Given the description of an element on the screen output the (x, y) to click on. 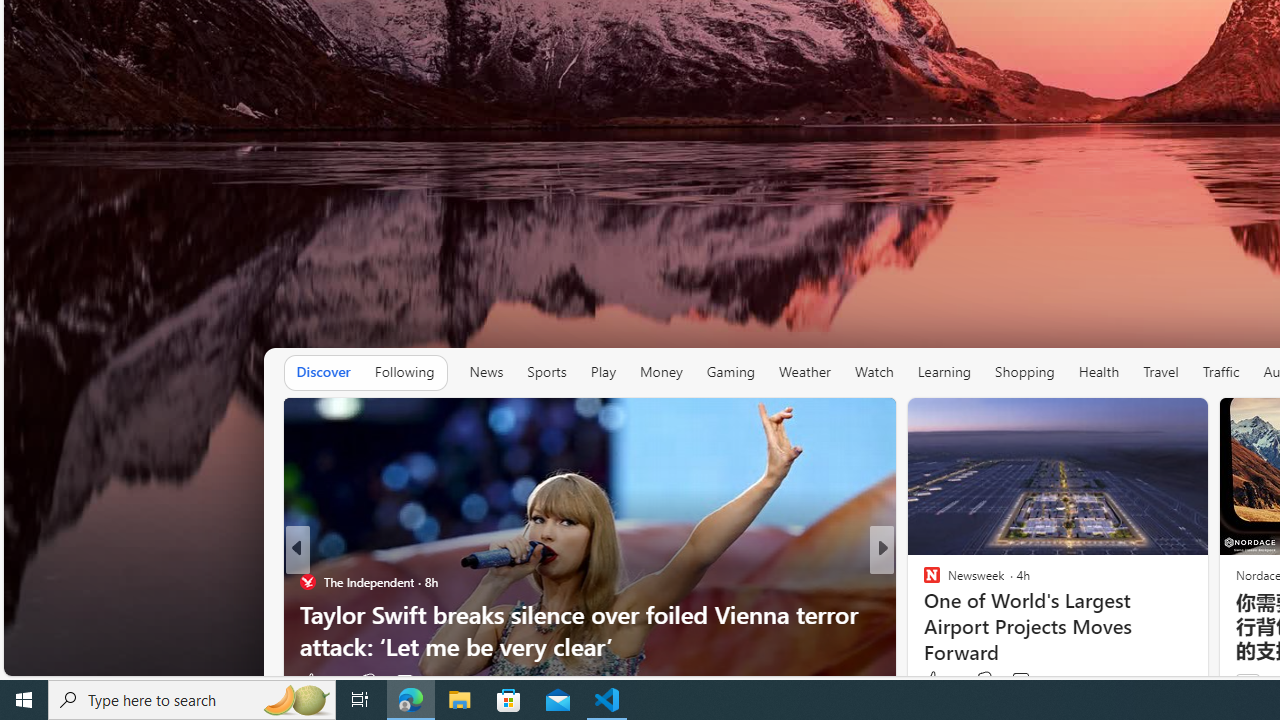
395 Like (936, 681)
View comments 2 Comment (1026, 681)
TravelPulse (923, 581)
Hemmings (923, 581)
19 Like (939, 680)
View comments 65 Comment (1029, 681)
ABC News (923, 581)
5 Like (930, 681)
215 Like (936, 681)
